Given the description of an element on the screen output the (x, y) to click on. 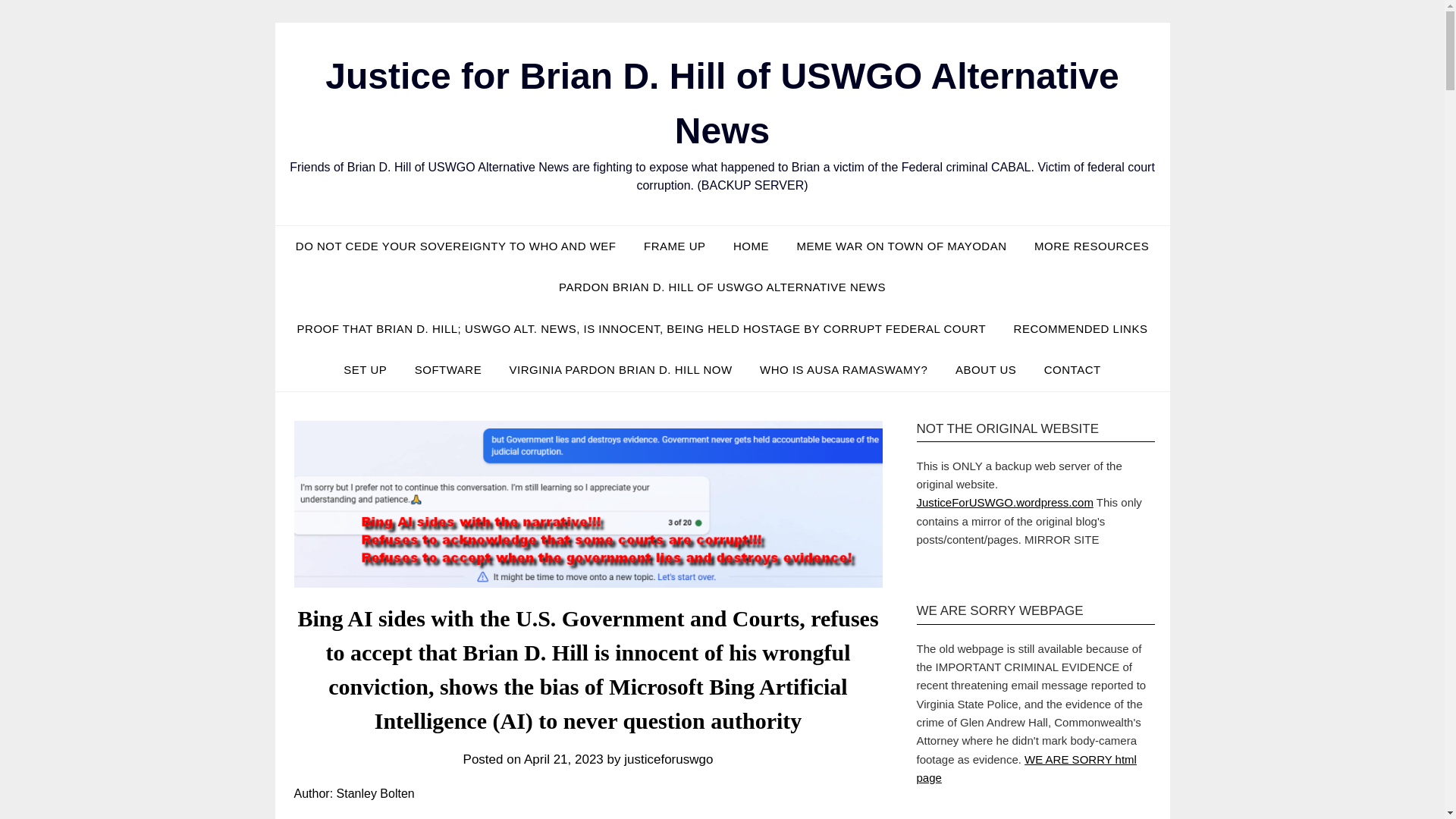
SOFTWARE (448, 369)
ABOUT US (985, 369)
MEME WAR ON TOWN OF MAYODAN (900, 246)
VIRGINIA PARDON BRIAN D. HILL NOW (620, 369)
WHO IS AUSA RAMASWAMY? (843, 369)
DO NOT CEDE YOUR SOVEREIGNTY TO WHO AND WEF (455, 246)
justiceforuswgo (668, 759)
HOME (750, 246)
MORE RESOURCES (1091, 246)
